Given the description of an element on the screen output the (x, y) to click on. 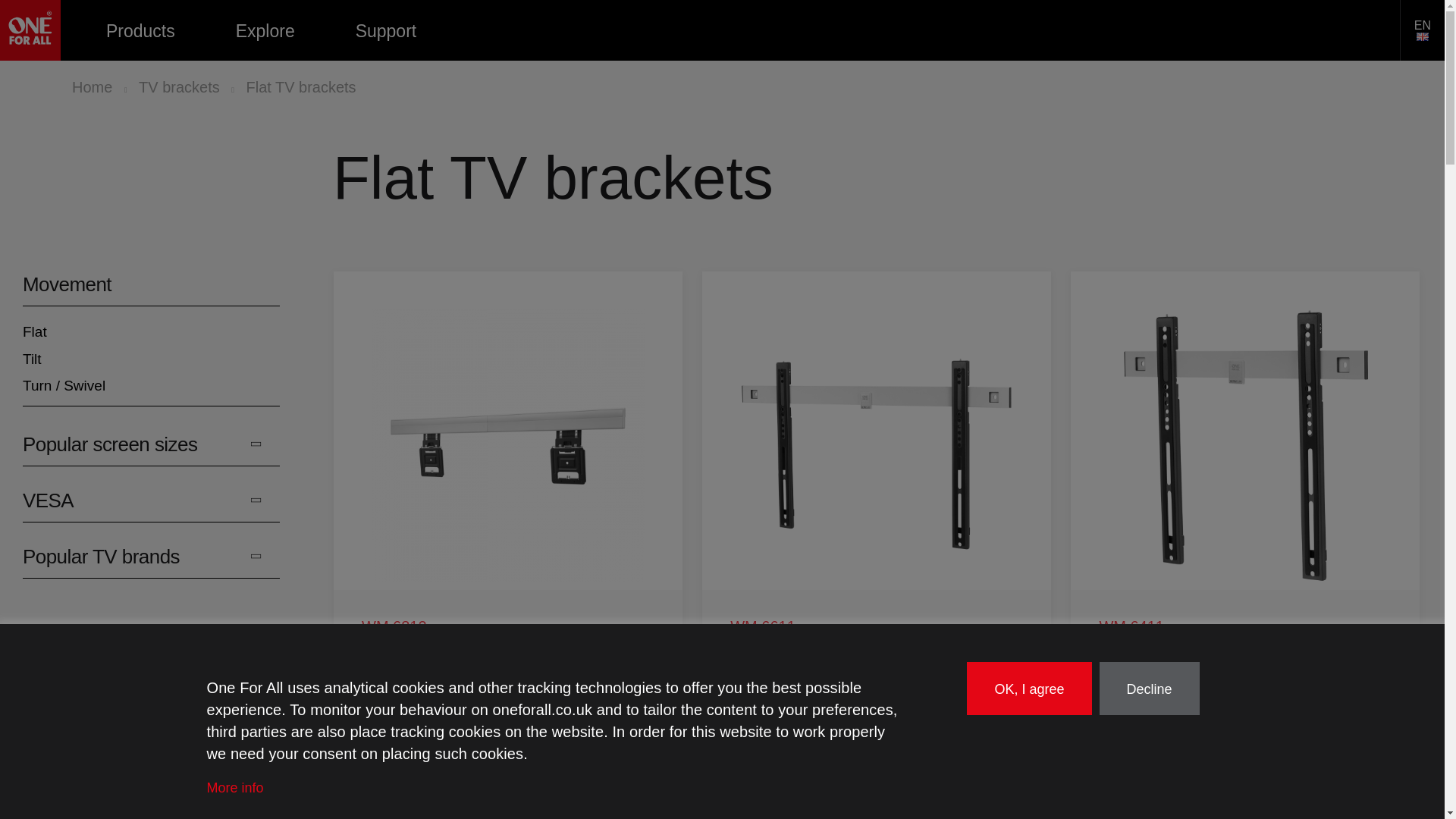
Support (385, 30)
Home (30, 30)
TV brackets (178, 87)
Explore (264, 30)
Home (91, 87)
Flat (151, 331)
Tilt (151, 359)
